Given the description of an element on the screen output the (x, y) to click on. 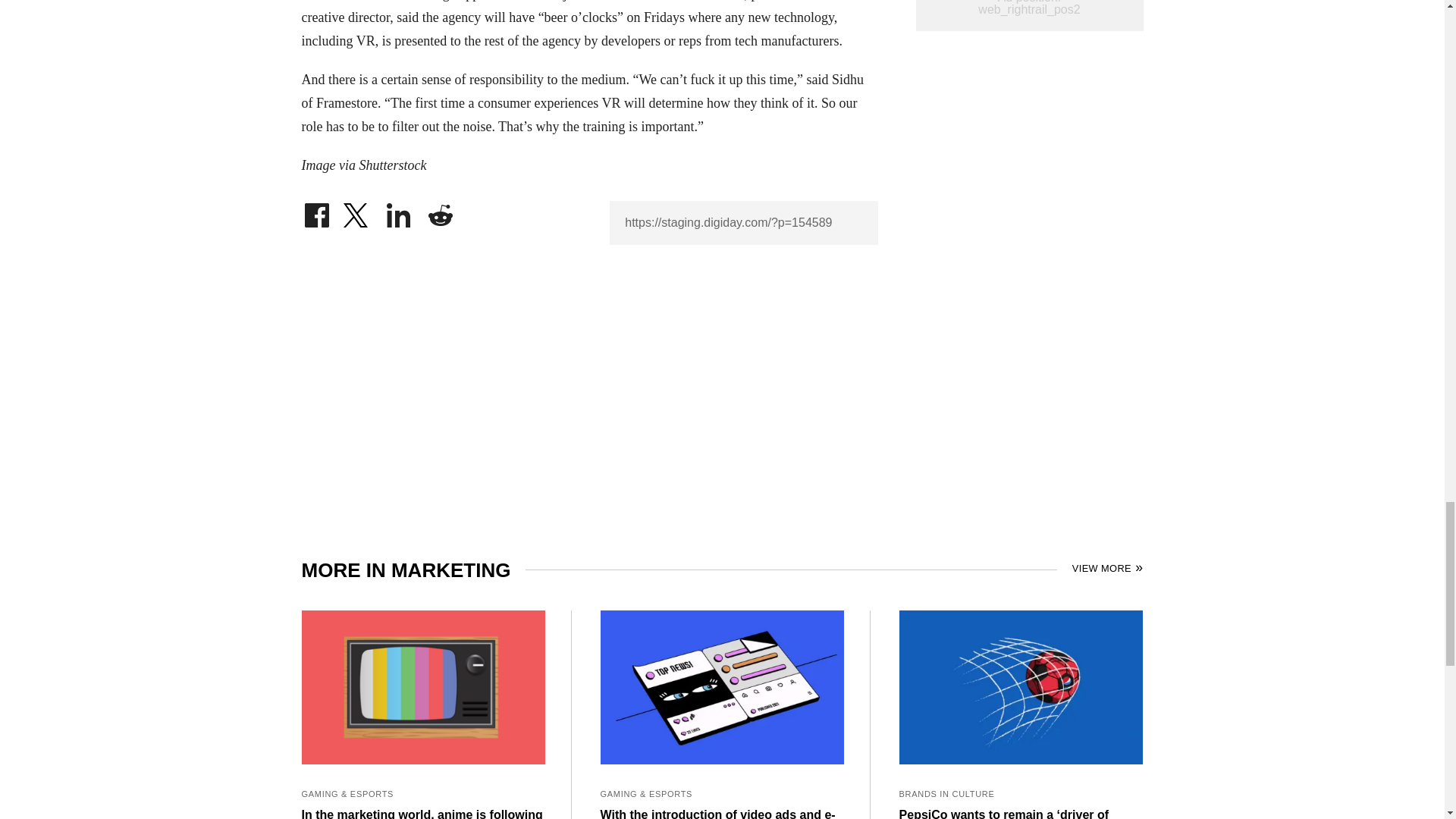
Share on Reddit (440, 211)
Share on Twitter (357, 211)
Share on LinkedIn (398, 211)
Share on Facebook (316, 211)
